Given the description of an element on the screen output the (x, y) to click on. 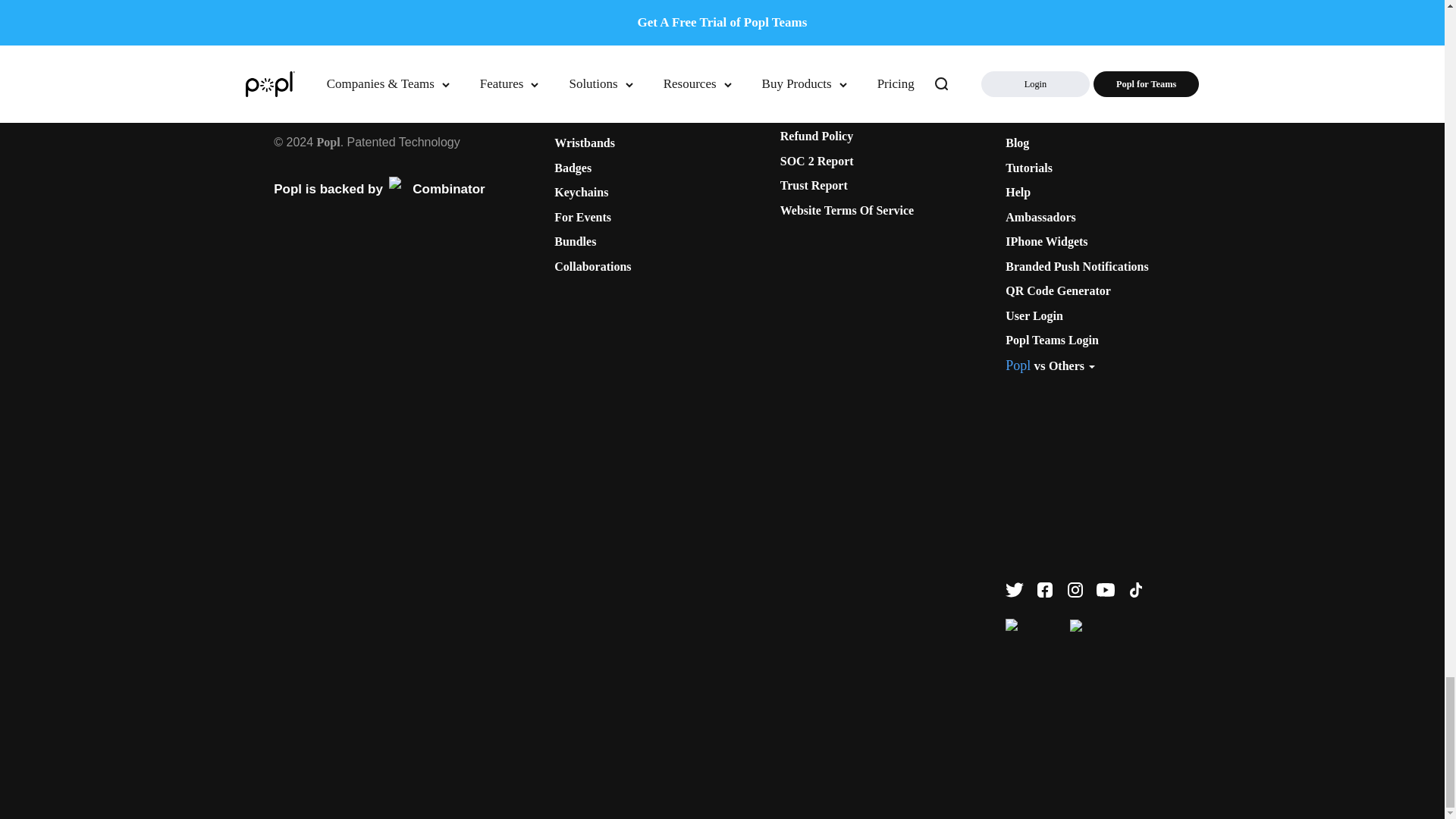
Popl on YouTube (1105, 589)
Popl on Facebook (1044, 589)
Popl on Instagram (1074, 589)
Popl on Twitter (1014, 589)
